Given the description of an element on the screen output the (x, y) to click on. 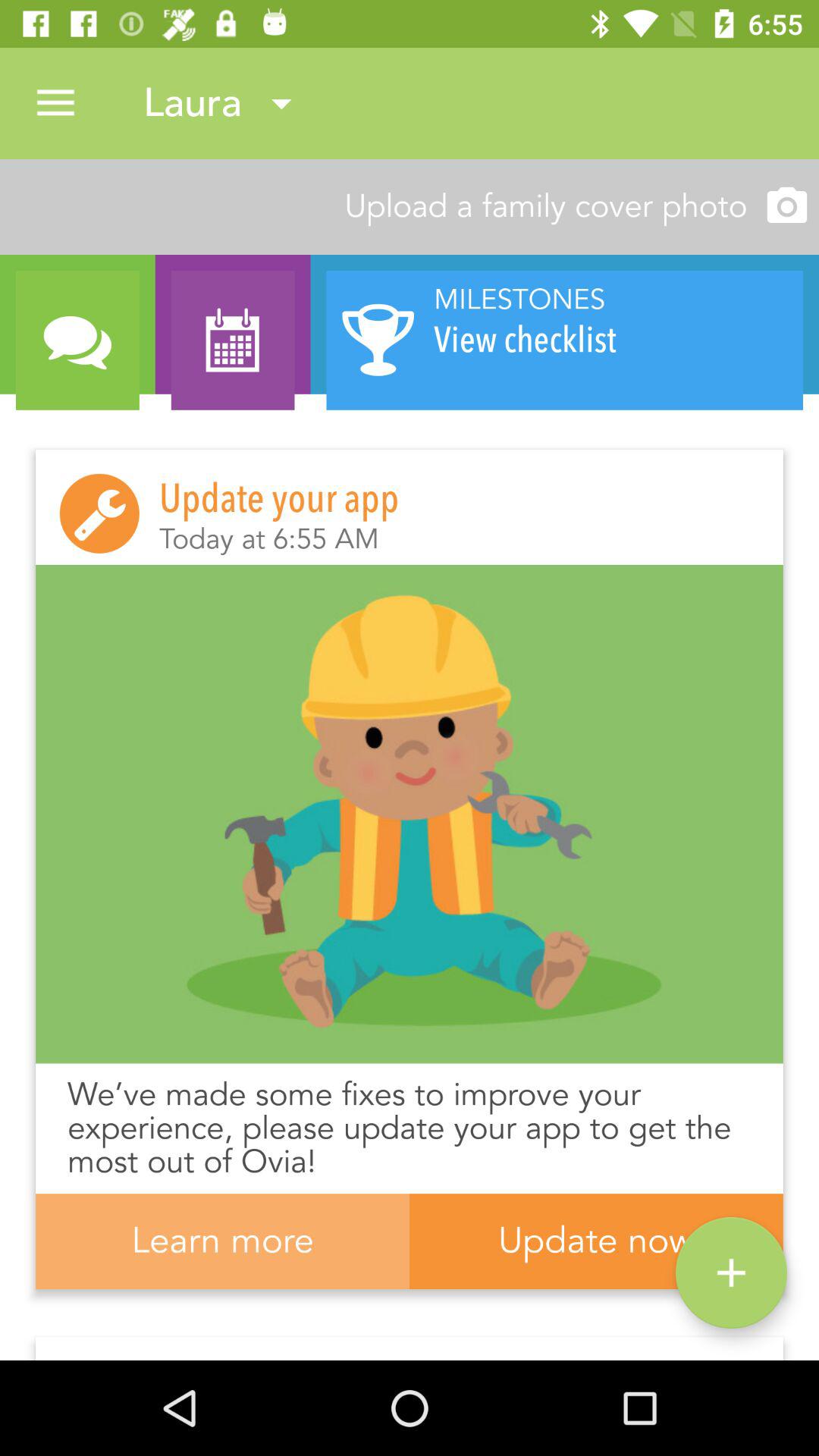
launch icon next to learn more icon (731, 1272)
